Given the description of an element on the screen output the (x, y) to click on. 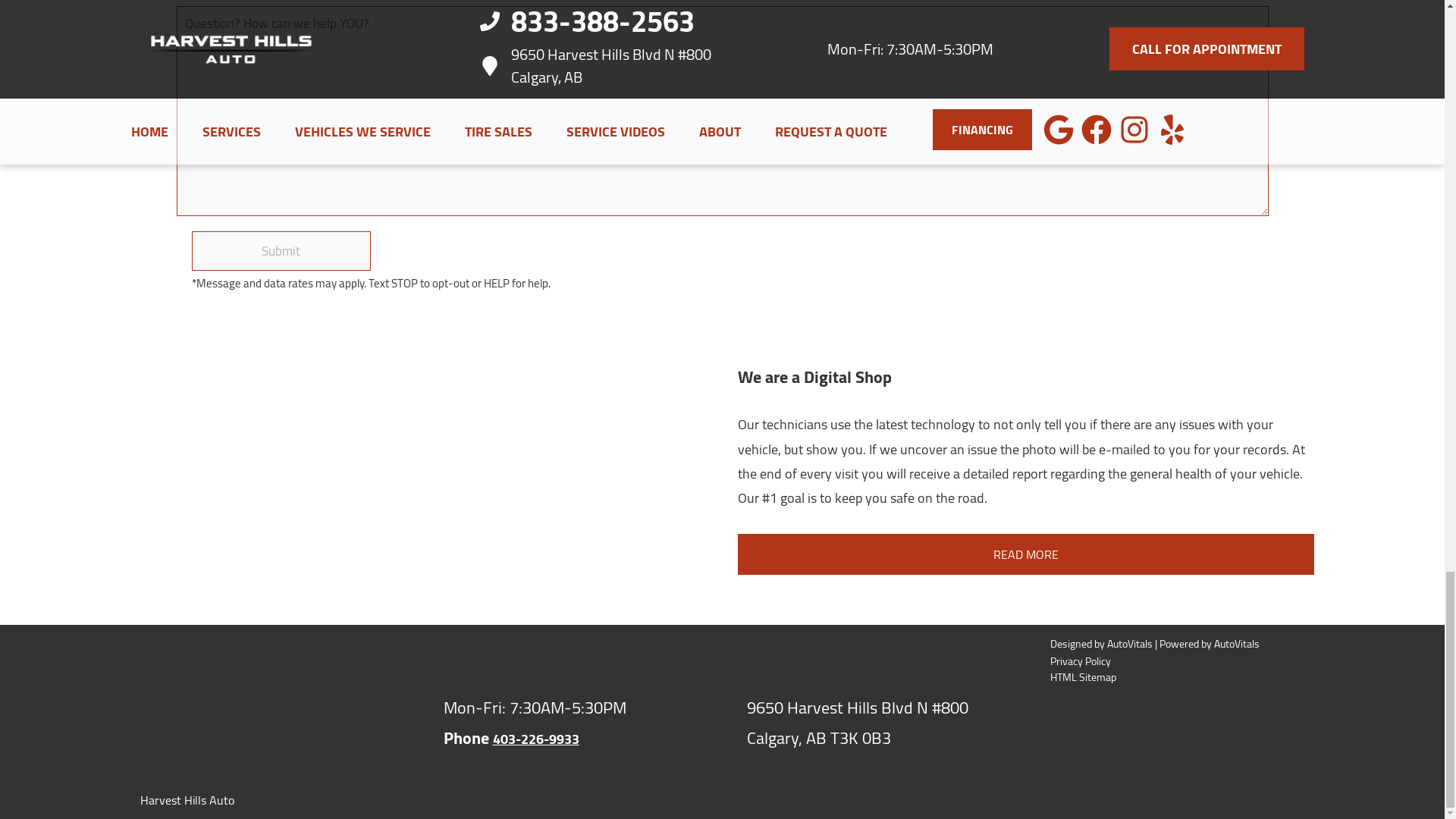
Submit (280, 250)
